Given the description of an element on the screen output the (x, y) to click on. 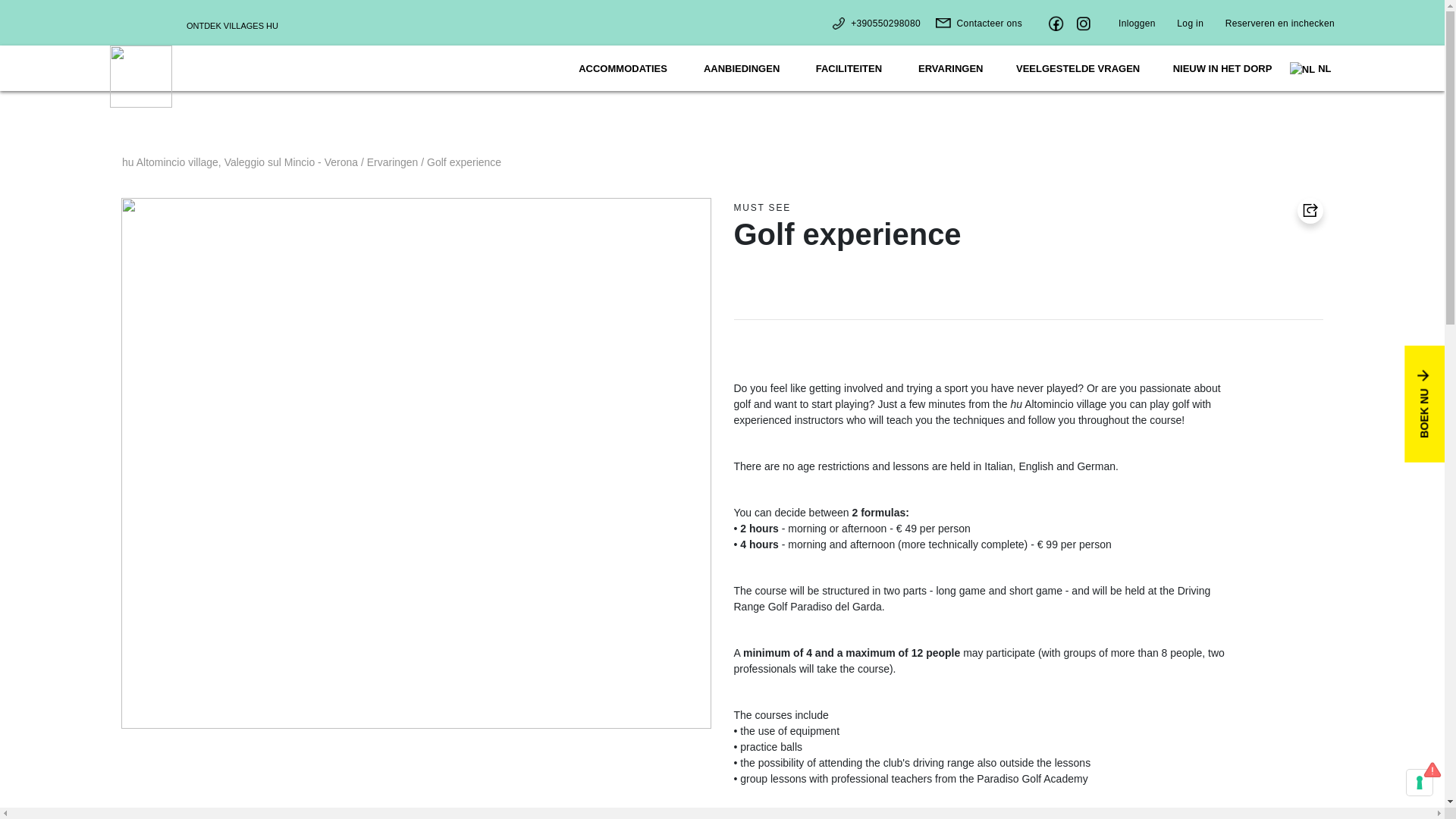
Reserveren en inchecken (1280, 23)
ACCOMMODATIES (620, 68)
VEELGESTELDE VRAGEN (1078, 68)
ERVARINGEN (950, 69)
AANBIEDINGEN (740, 68)
Log in (1190, 23)
NL (1309, 68)
FACILITEITEN (847, 68)
Contacteer ons (972, 23)
NIEUW IN HET DORP (1222, 68)
Inloggen (1137, 23)
